Given the description of an element on the screen output the (x, y) to click on. 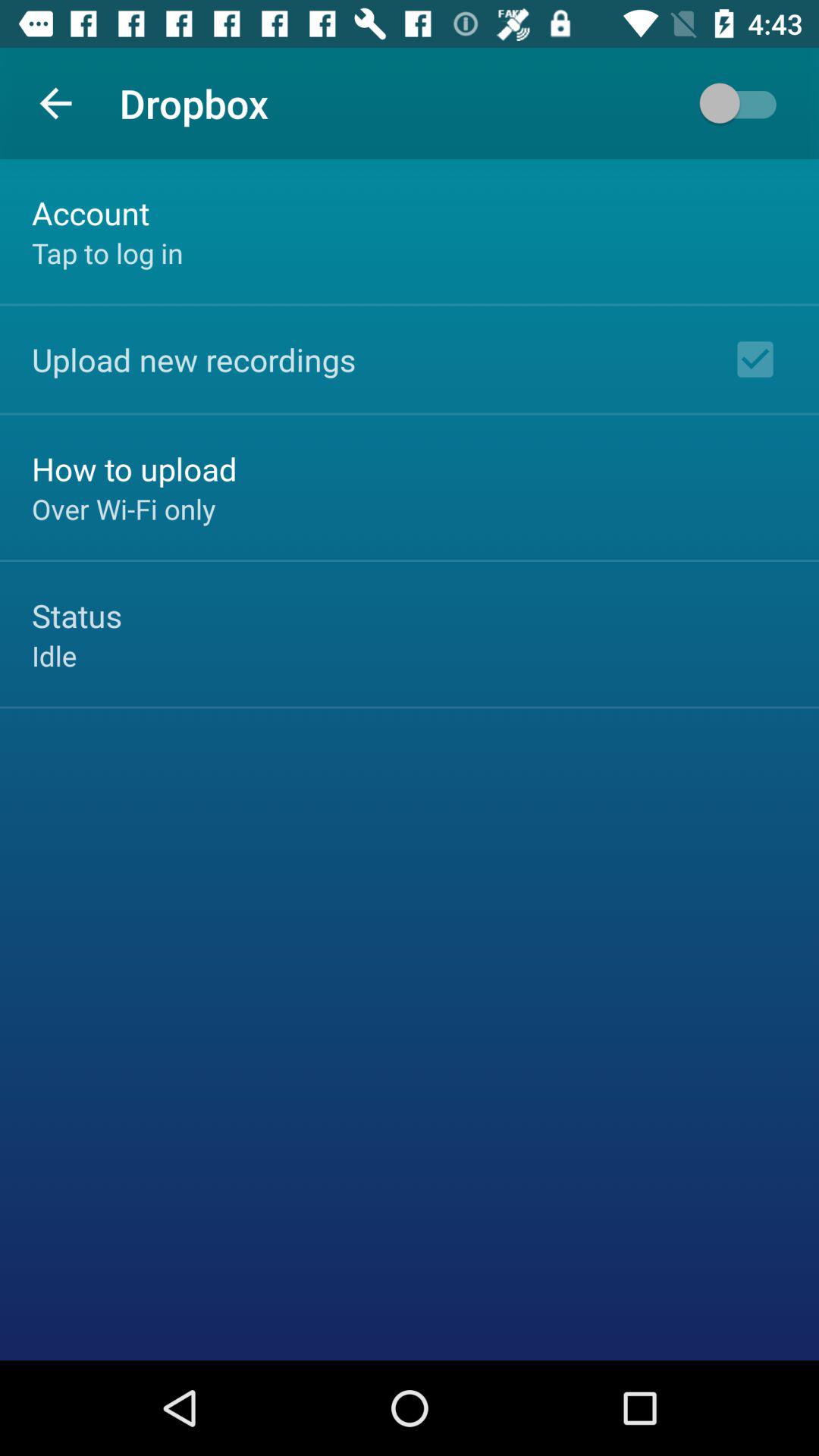
scroll until the status (76, 615)
